Given the description of an element on the screen output the (x, y) to click on. 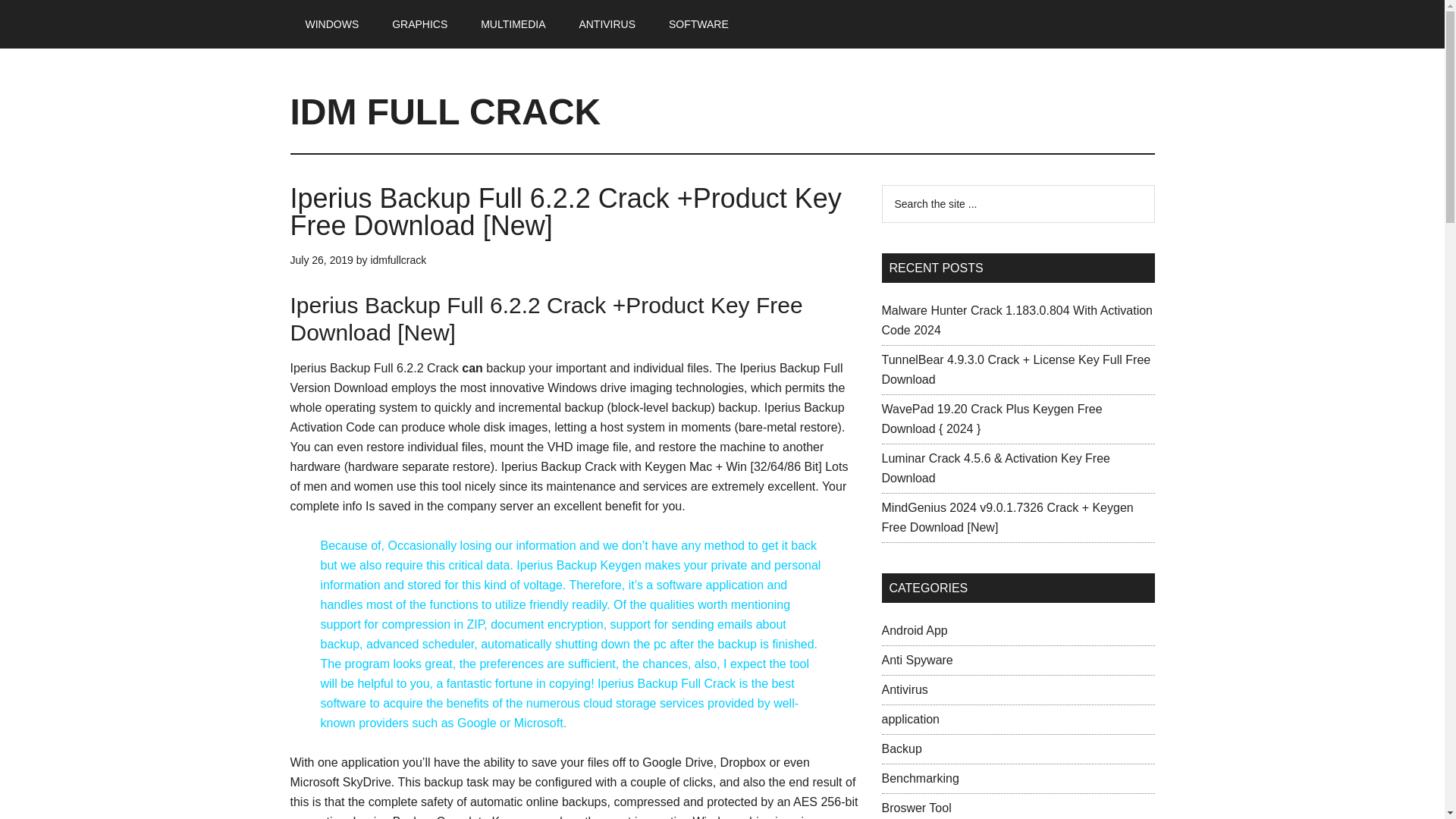
Iperius Backup Full 6.2.2 Crack (373, 367)
idmfullcrack (397, 259)
Android App (913, 630)
Benchmarking (919, 778)
Antivirus (903, 689)
WINDOWS (331, 24)
Broswer Tool (915, 807)
Backup (900, 748)
IDM FULL CRACK (444, 111)
